Given the description of an element on the screen output the (x, y) to click on. 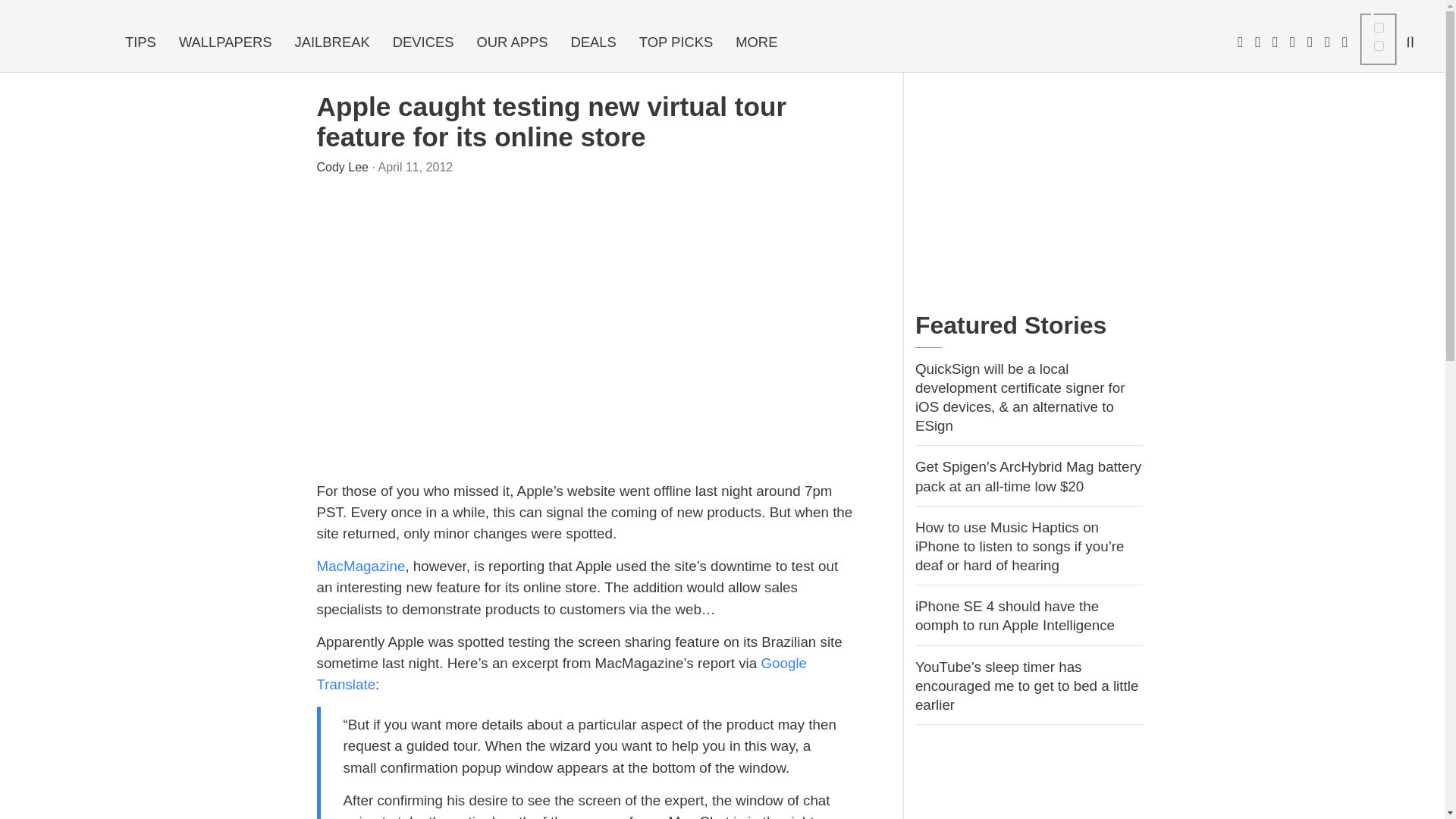
OUR APPS (511, 42)
TIPS (140, 42)
DEVICES (423, 42)
Tips (140, 42)
Wallpapers (225, 42)
JAILBREAK (332, 42)
WALLPAPERS (225, 42)
